Given the description of an element on the screen output the (x, y) to click on. 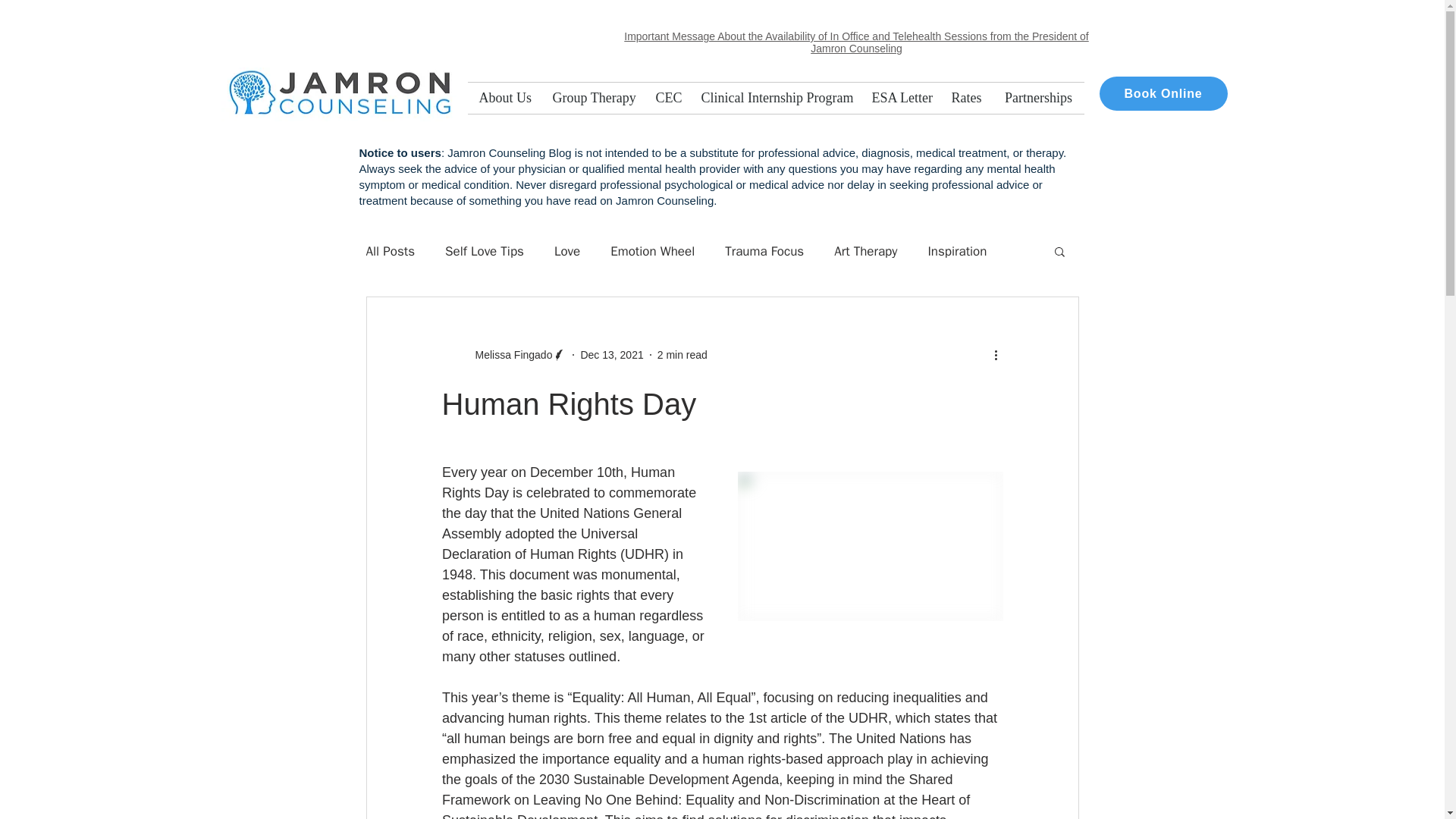
Melissa Fingado (508, 355)
Group Therapy (593, 97)
All Posts (389, 251)
2 min read (682, 354)
Rates (966, 97)
Dec 13, 2021 (611, 354)
Art Therapy (865, 251)
Partnerships (1038, 97)
Book Online (1163, 93)
Trauma Focus (764, 251)
About Us (503, 97)
Melissa Fingado (503, 354)
Inspiration (957, 251)
Clinical Internship Program (775, 97)
